Given the description of an element on the screen output the (x, y) to click on. 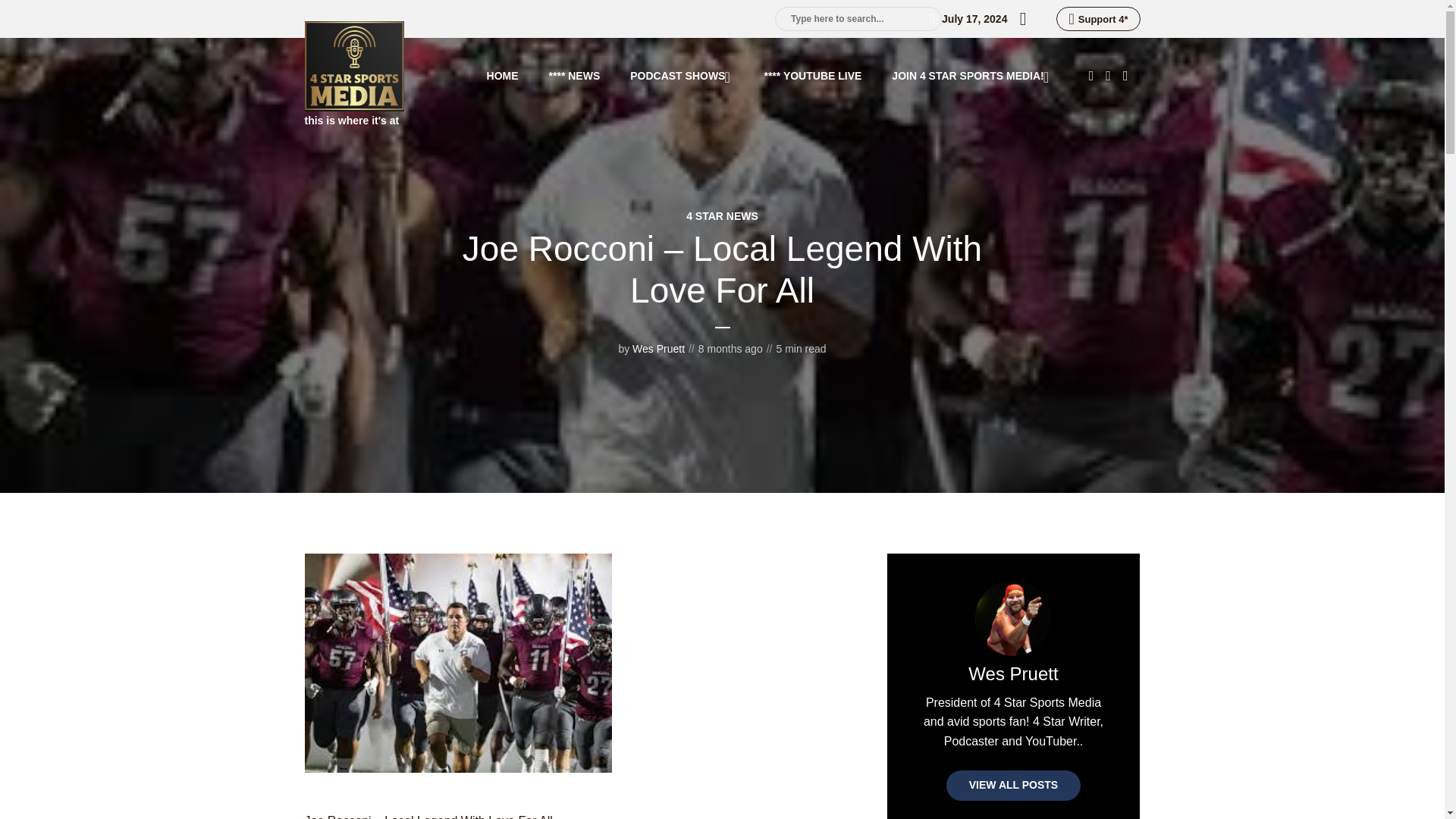
JOIN 4 STAR SPORTS MEDIA! (971, 75)
HOME (502, 75)
SEARCH (927, 18)
PODCAST SHOWS (681, 75)
